Given the description of an element on the screen output the (x, y) to click on. 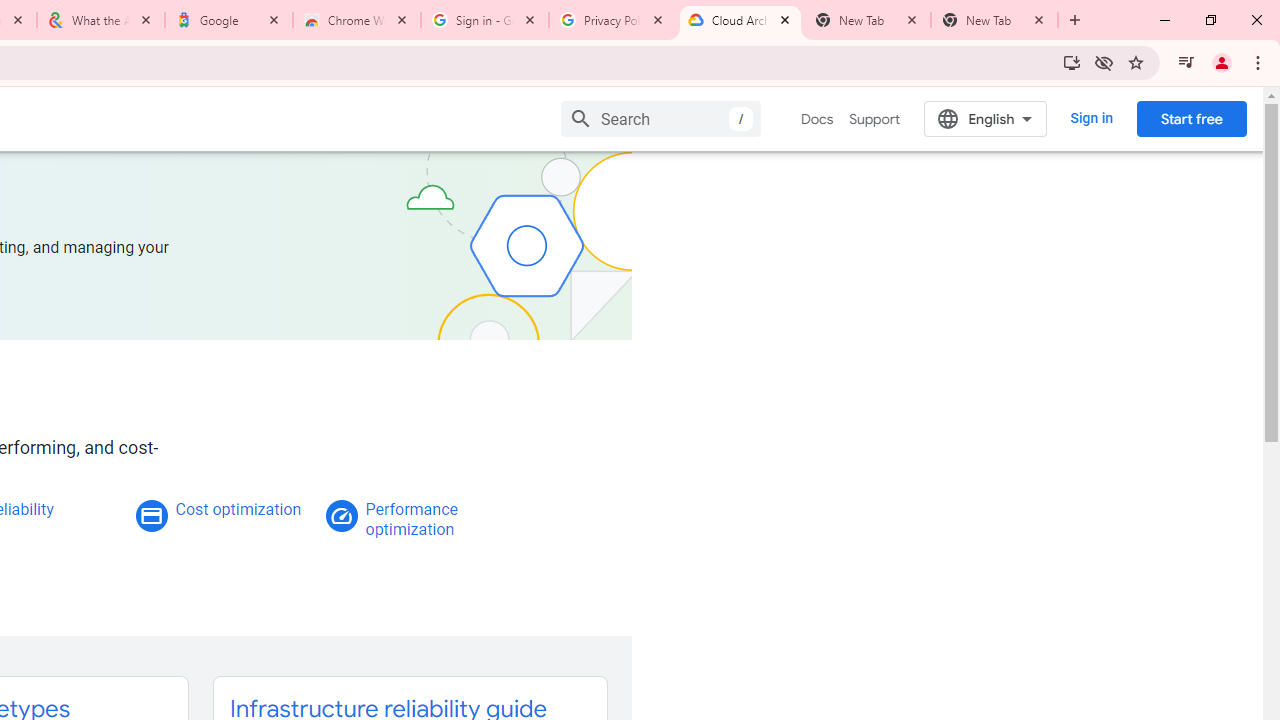
Install Google Cloud (1071, 62)
Sign in - Google Accounts (485, 20)
Google (229, 20)
Start free (1191, 118)
Support (874, 119)
Chrome Web Store - Color themes by Chrome (357, 20)
